Given the description of an element on the screen output the (x, y) to click on. 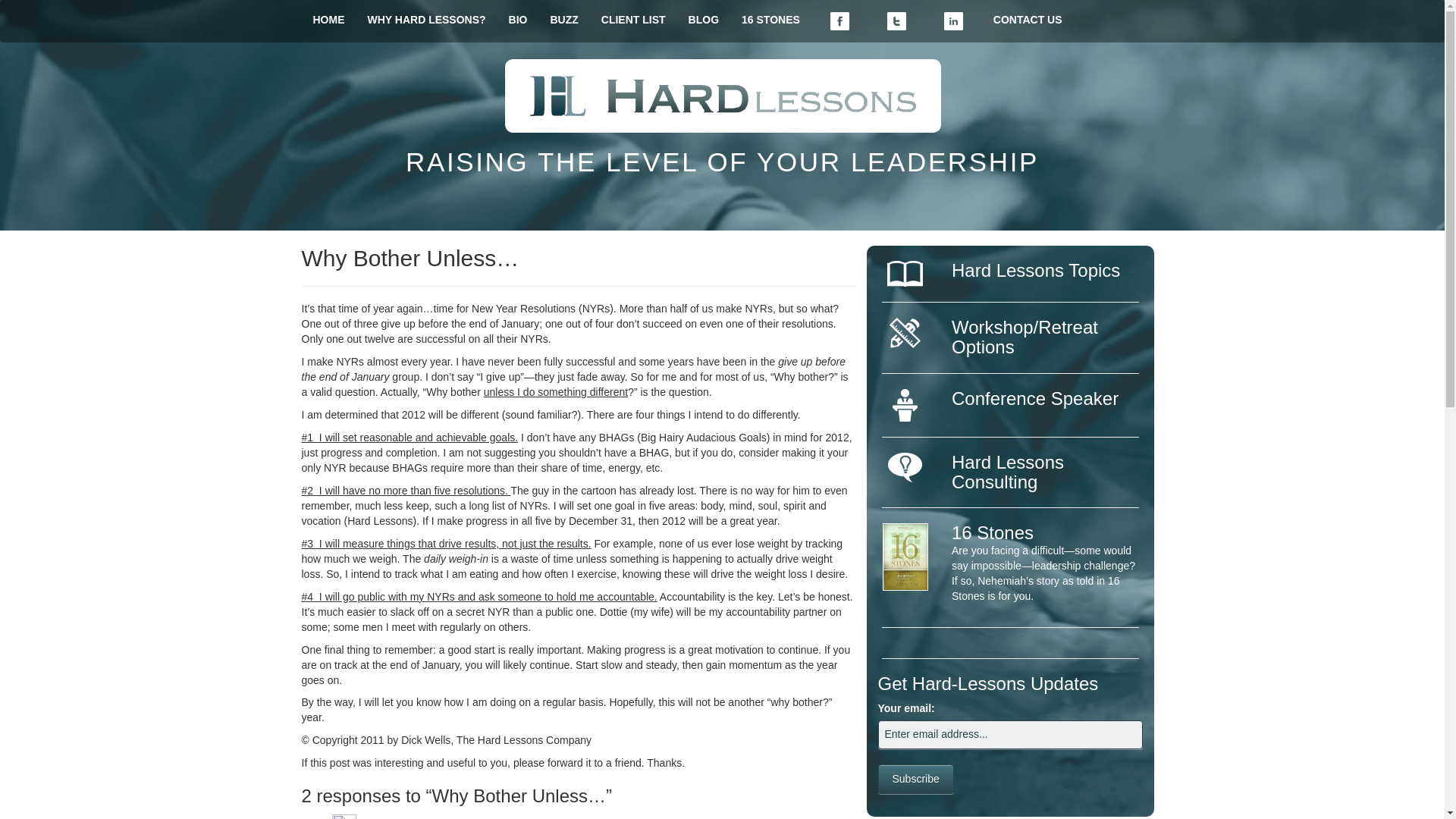
16 STONES (770, 19)
Conference Speaker (1035, 398)
HOME (328, 19)
CONTACT US (1027, 19)
BIO (517, 19)
Hard Lessons Consulting (1008, 472)
Hard Lessons Topics (1035, 270)
WHY HARD LESSONS? (426, 19)
Subscribe (915, 778)
CLIENT LIST (633, 19)
BUZZ (563, 19)
Subscribe (915, 778)
BLOG (703, 19)
Enter email address... (1009, 734)
